Given the description of an element on the screen output the (x, y) to click on. 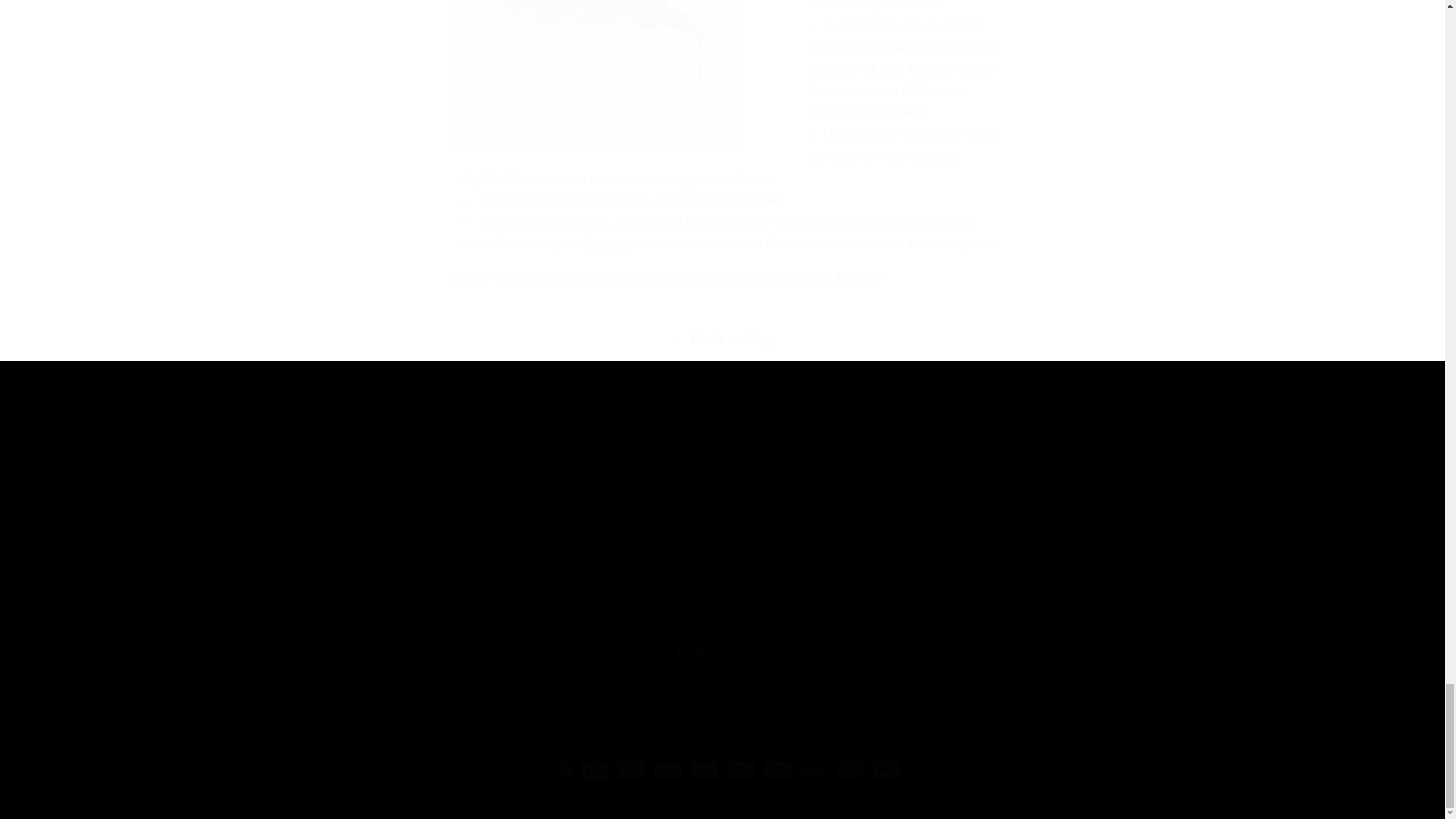
Facebook (312, 489)
Instagram (345, 489)
Bushwick Kitchen (721, 677)
Sriracha (441, 527)
Twitter (722, 527)
